Given the description of an element on the screen output the (x, y) to click on. 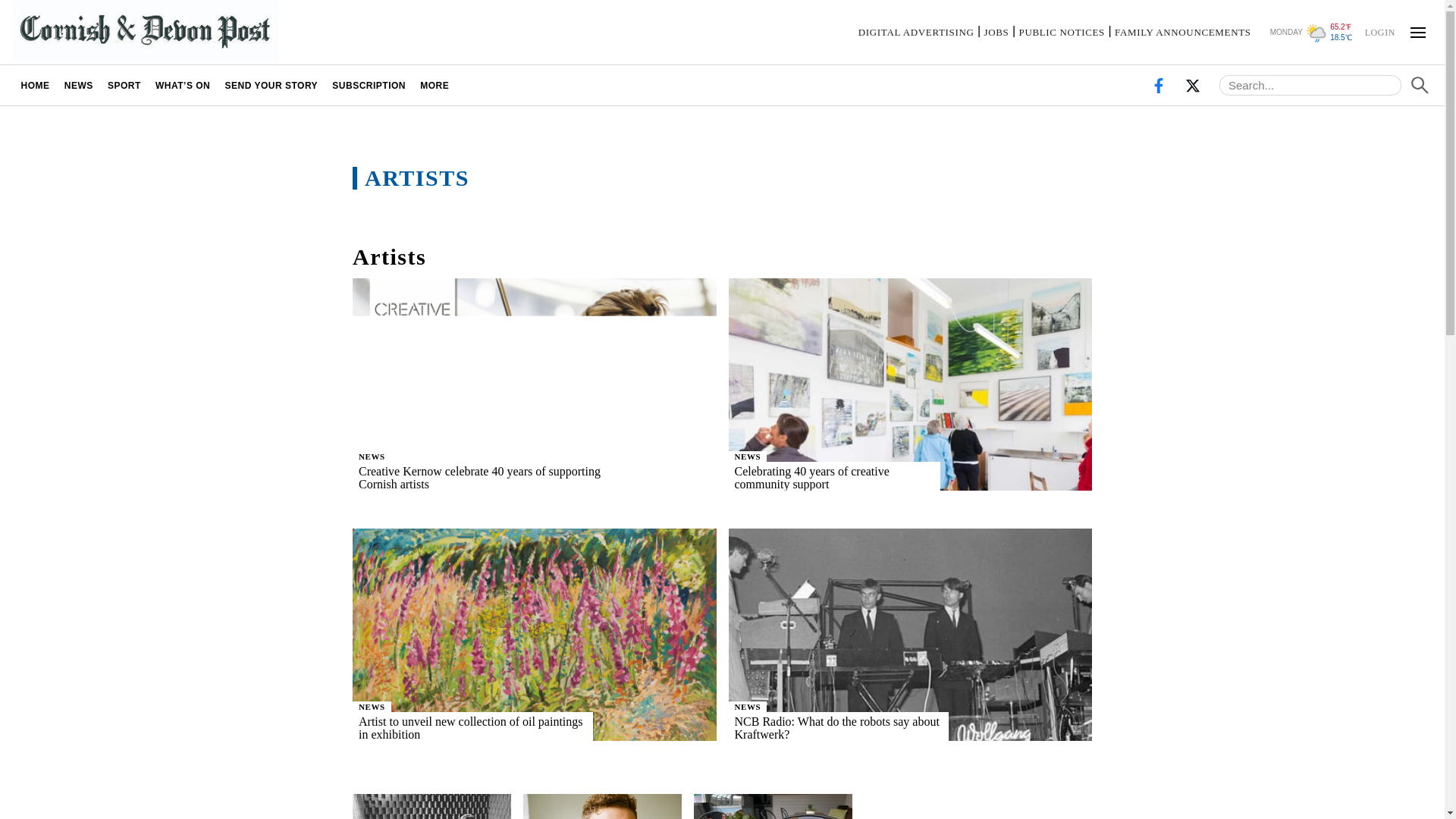
NEWS (78, 85)
FAMILY ANNOUNCEMENTS (1182, 32)
NEWS (747, 706)
NEWS (371, 706)
SPORT (124, 85)
LOGIN (1379, 31)
Celebrating 40 years of creative community support (860, 477)
SUBSCRIPTION (368, 85)
HOME (34, 85)
NEWS (371, 456)
SEND YOUR STORY (270, 85)
MORE (435, 85)
NCB Radio: What do the robots say about Kraftwerk? (865, 727)
